Given the description of an element on the screen output the (x, y) to click on. 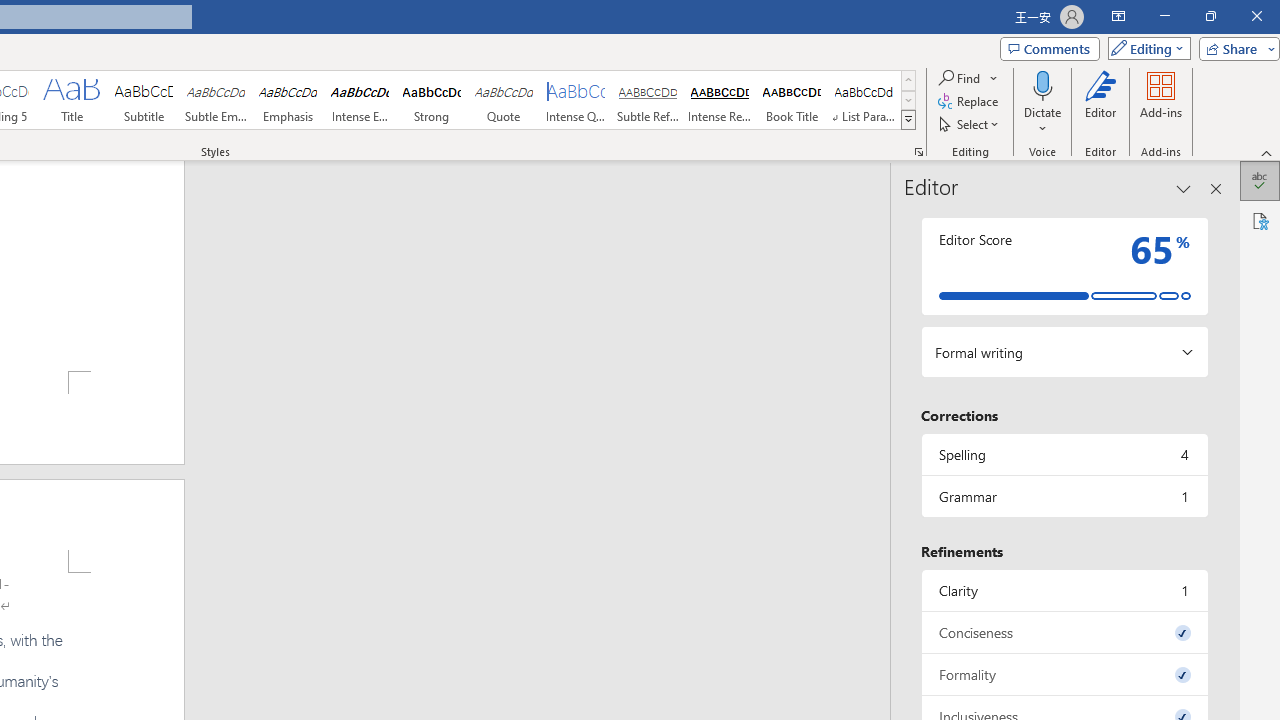
Intense Quote (575, 100)
Strong (431, 100)
Subtle Reference (647, 100)
Editor Score 65% (1064, 266)
Grammar, 1 issue. Press space or enter to review items. (1064, 495)
Editing (1144, 47)
Spelling, 4 issues. Press space or enter to review items. (1064, 454)
